Given the description of an element on the screen output the (x, y) to click on. 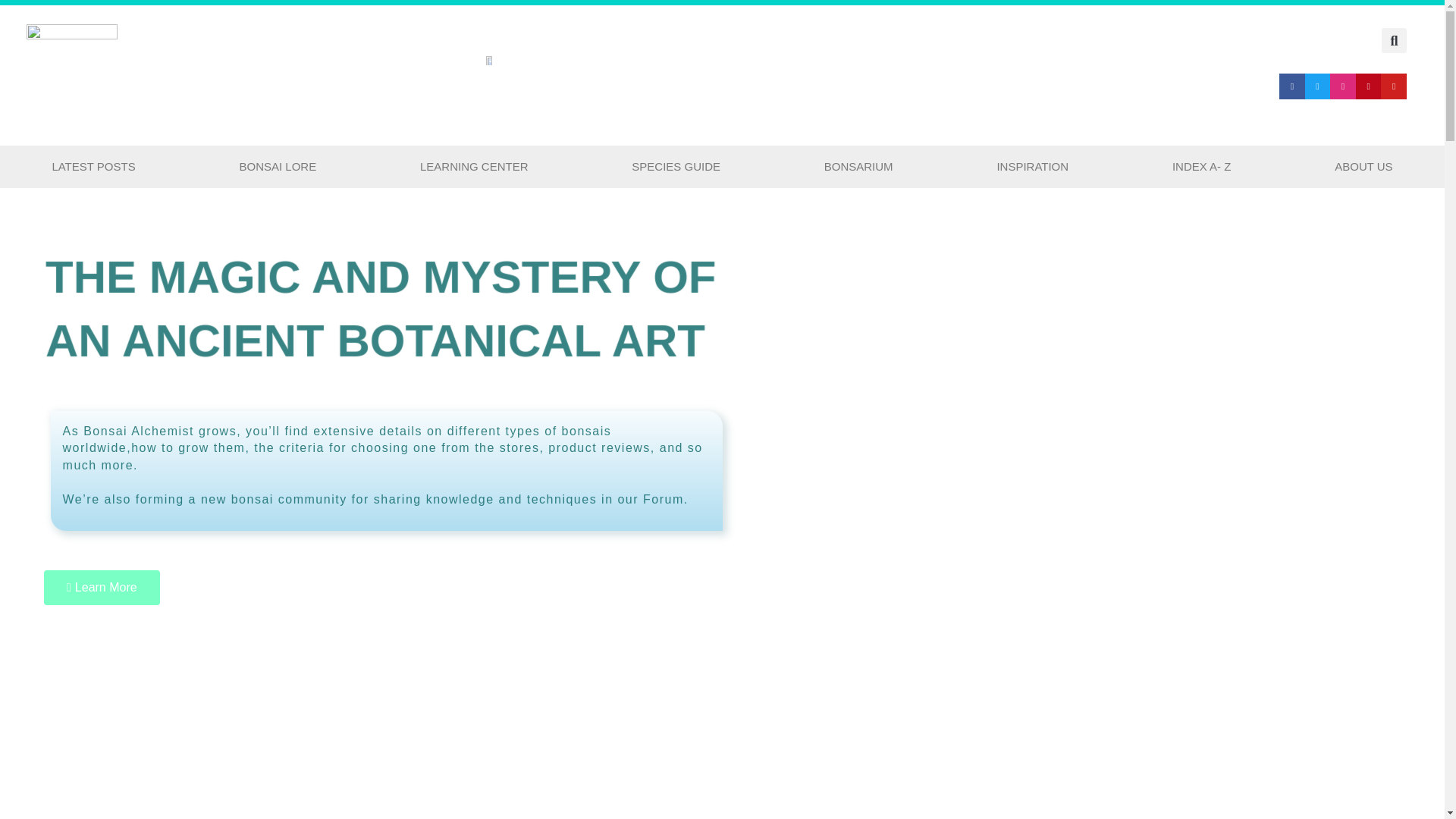
BONSAI LORE (277, 166)
LATEST POSTS (93, 166)
Facebook-f (1291, 86)
Twitter (1317, 86)
Instagram (1342, 86)
INSPIRATION (1032, 166)
Youtube (1393, 86)
INDEX A- Z (1201, 166)
LEARNING CENTER (473, 166)
BONSARIUM (857, 166)
